Given the description of an element on the screen output the (x, y) to click on. 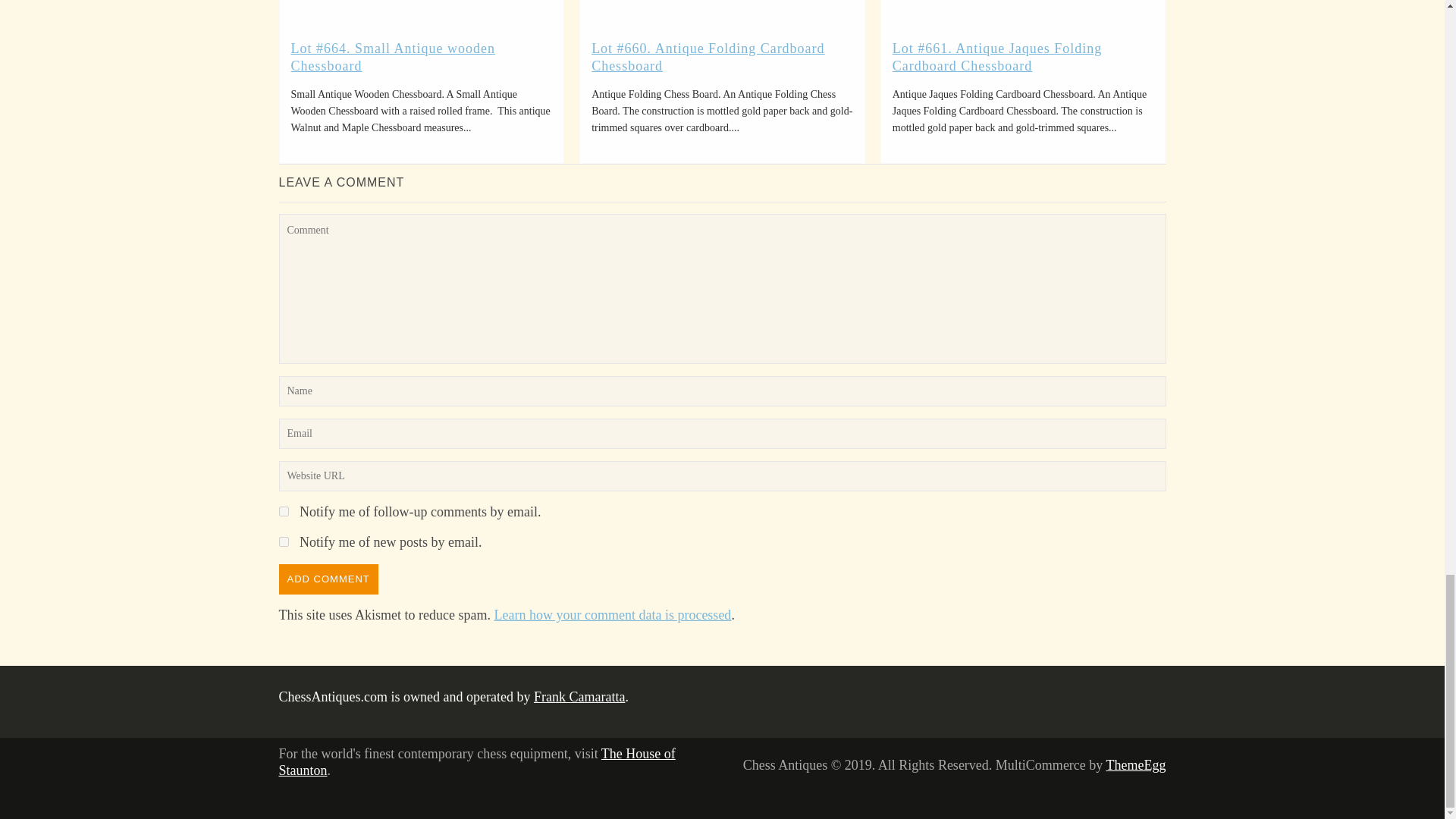
Add Comment (328, 579)
subscribe (283, 542)
subscribe (283, 511)
